Given the description of an element on the screen output the (x, y) to click on. 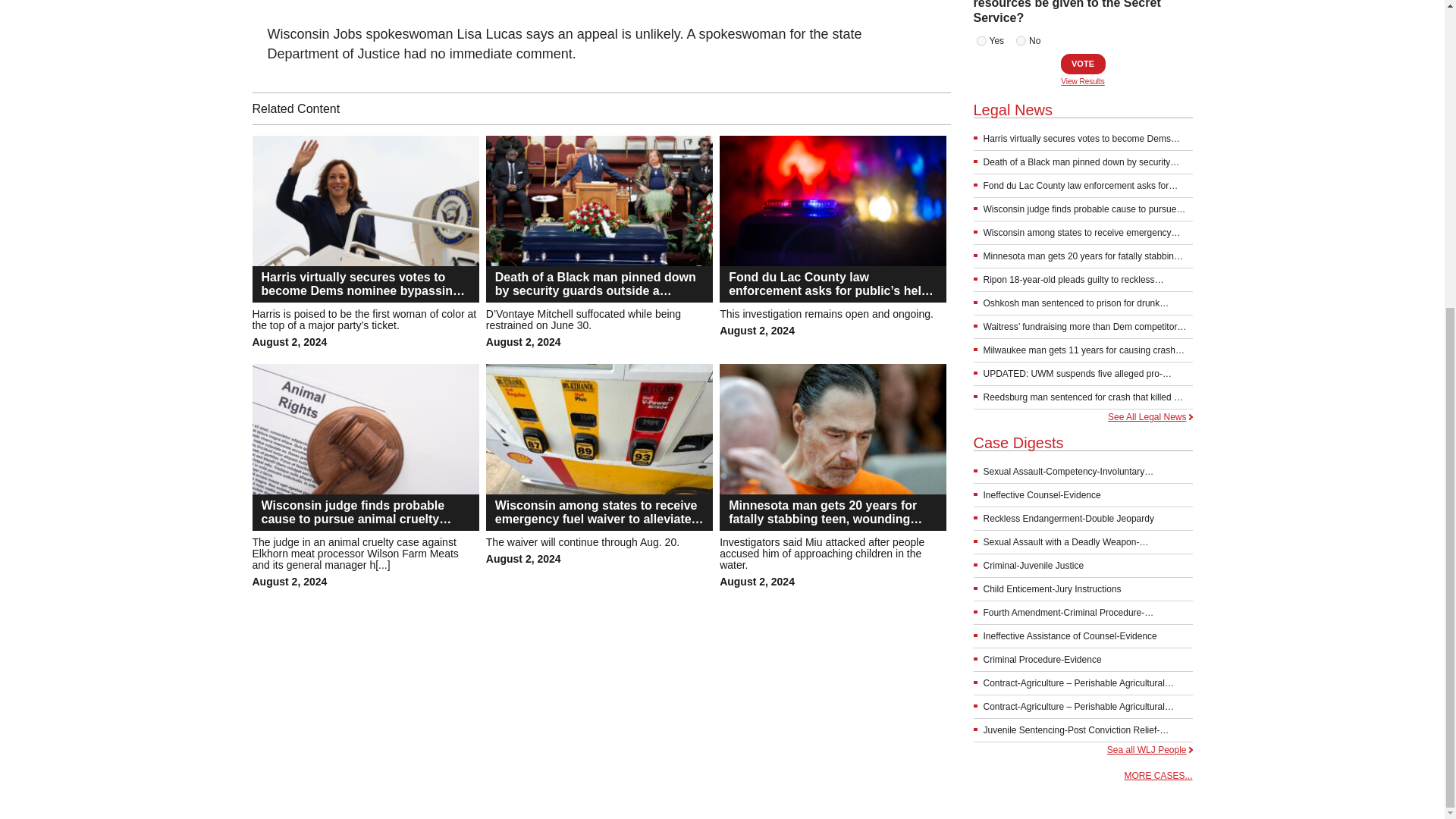
View Results Of This Poll (1083, 81)
501 (981, 40)
   Vote    (1082, 64)
502 (1021, 40)
